Given the description of an element on the screen output the (x, y) to click on. 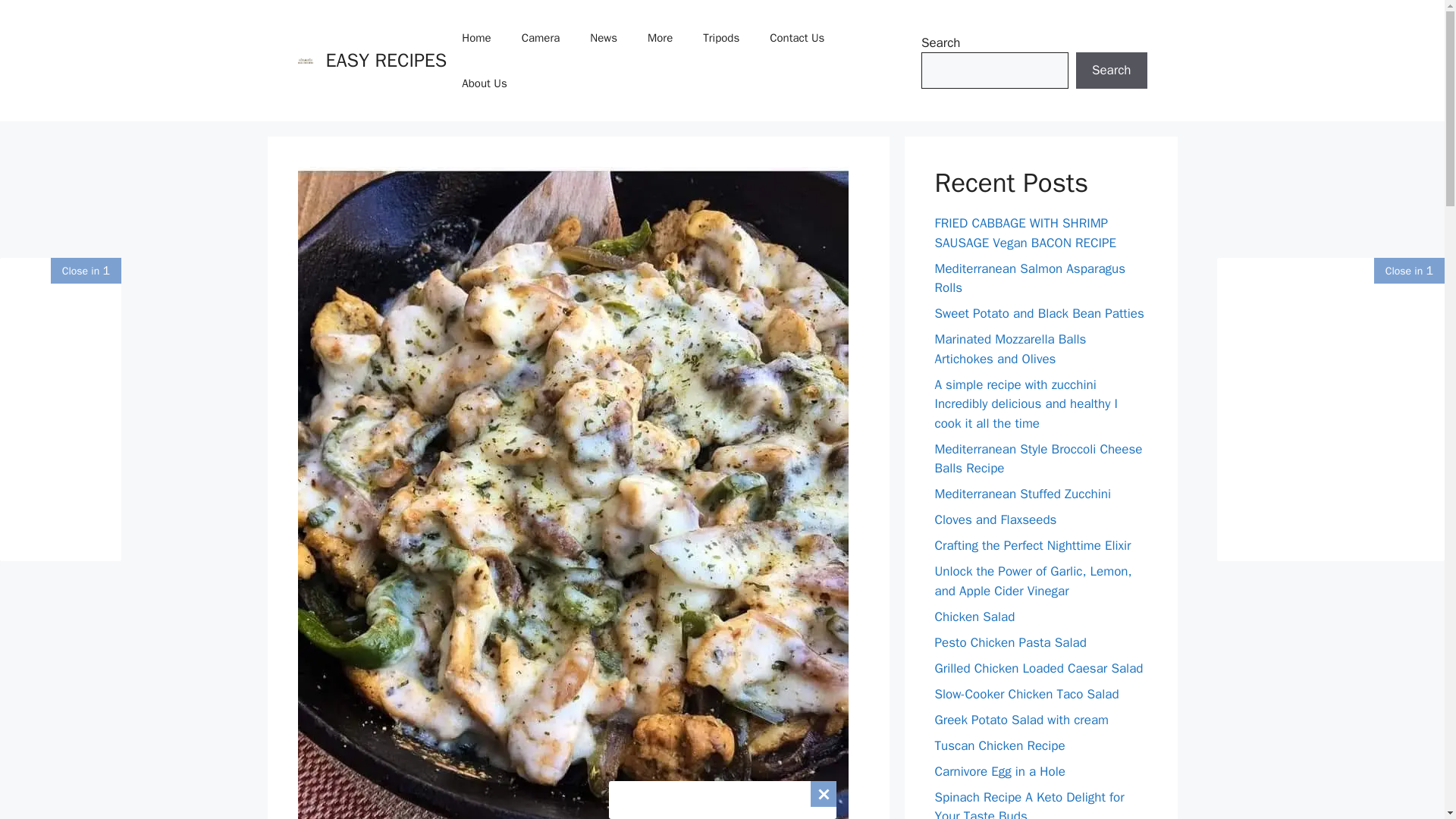
More (659, 37)
Mediterranean Style Broccoli Cheese Balls Recipe (1037, 458)
Home (475, 37)
Crafting the Perfect Nighttime Elixir (1032, 545)
Search (1111, 70)
Tripods (720, 37)
Sweet Potato and Black Bean Patties (1038, 313)
Contact Us (797, 37)
About Us (483, 83)
Pesto Chicken Pasta Salad (1010, 641)
